Given the description of an element on the screen output the (x, y) to click on. 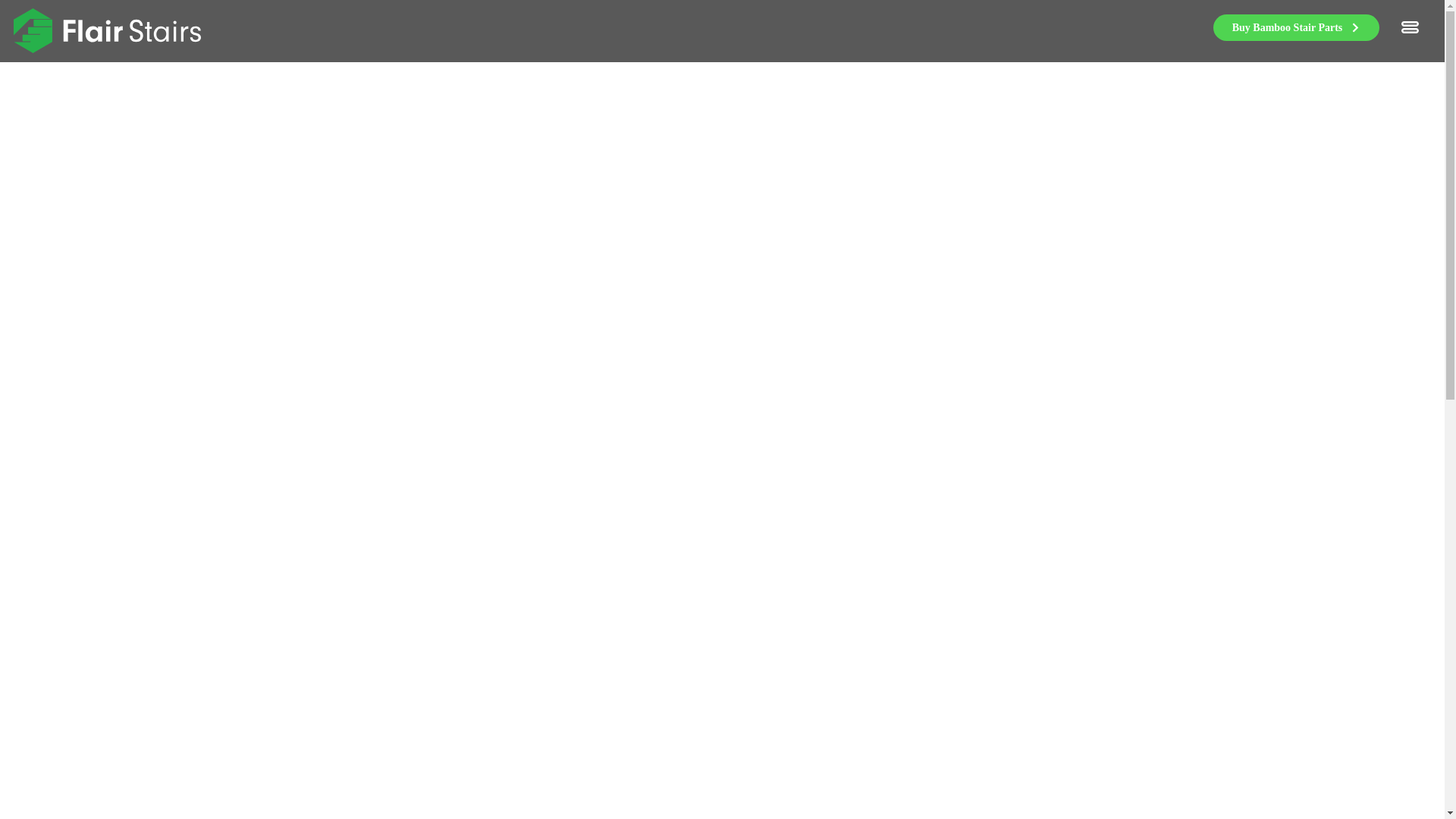
Buy Bamboo Stair Parts (1295, 27)
